Given the description of an element on the screen output the (x, y) to click on. 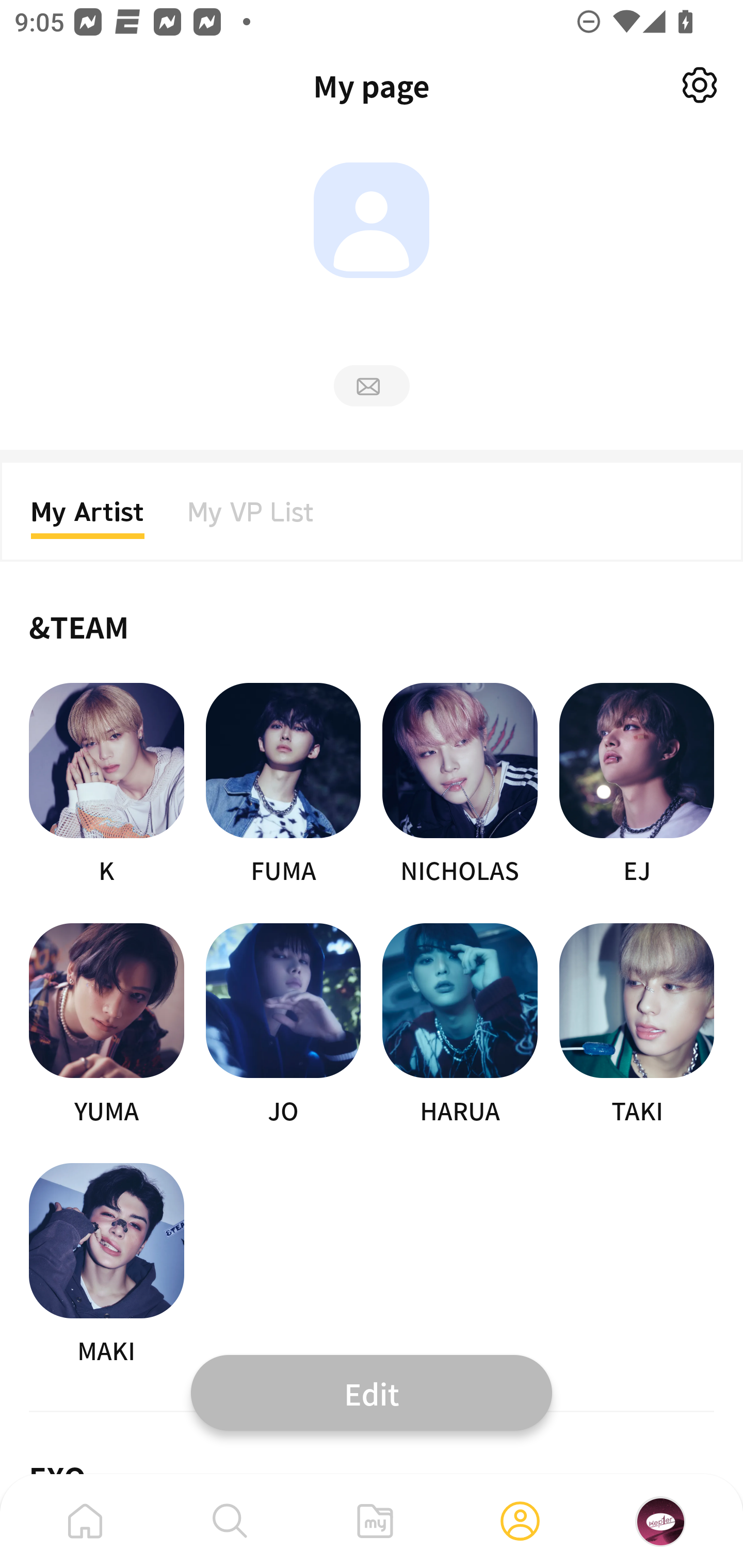
My Artist (87, 517)
My VP List (250, 517)
K (106, 785)
FUMA (282, 785)
NICHOLAS (459, 785)
EJ (636, 785)
YUMA (106, 1025)
JO (282, 1025)
HARUA (459, 1025)
TAKI (636, 1025)
MAKI (106, 1265)
Edit (371, 1392)
